Given the description of an element on the screen output the (x, y) to click on. 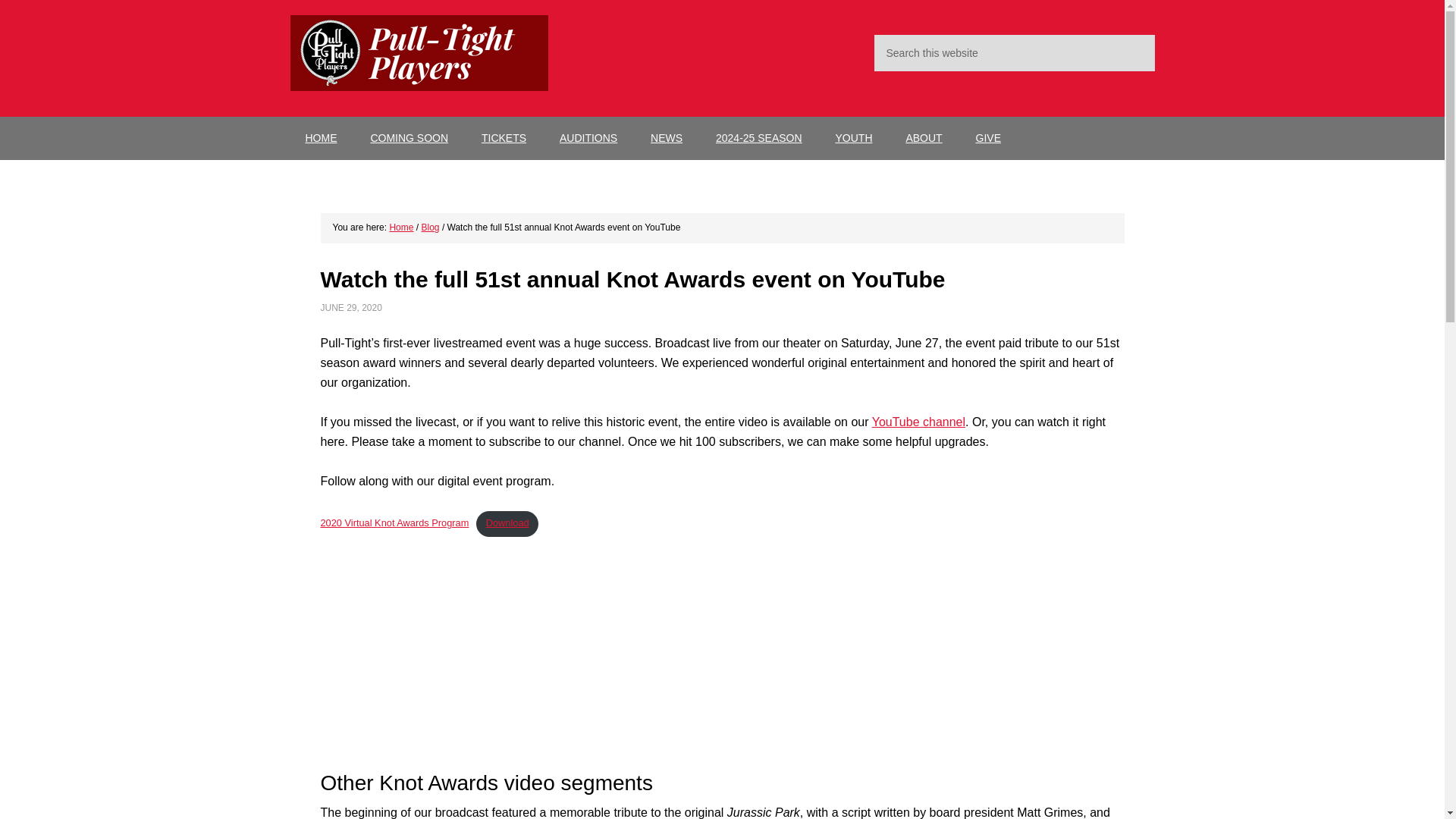
ABOUT (922, 138)
TICKETS (503, 138)
YOUTH (854, 138)
GIVE (988, 138)
AUDITIONS (587, 138)
HOME (320, 138)
Pull-Tight Virtual Knot Awards (509, 657)
NEWS (665, 138)
YouTube channel (918, 421)
2024-25 SEASON (758, 138)
Download (507, 524)
PULL-TIGHT PLAYERS (418, 52)
COMING SOON (409, 138)
